Given the description of an element on the screen output the (x, y) to click on. 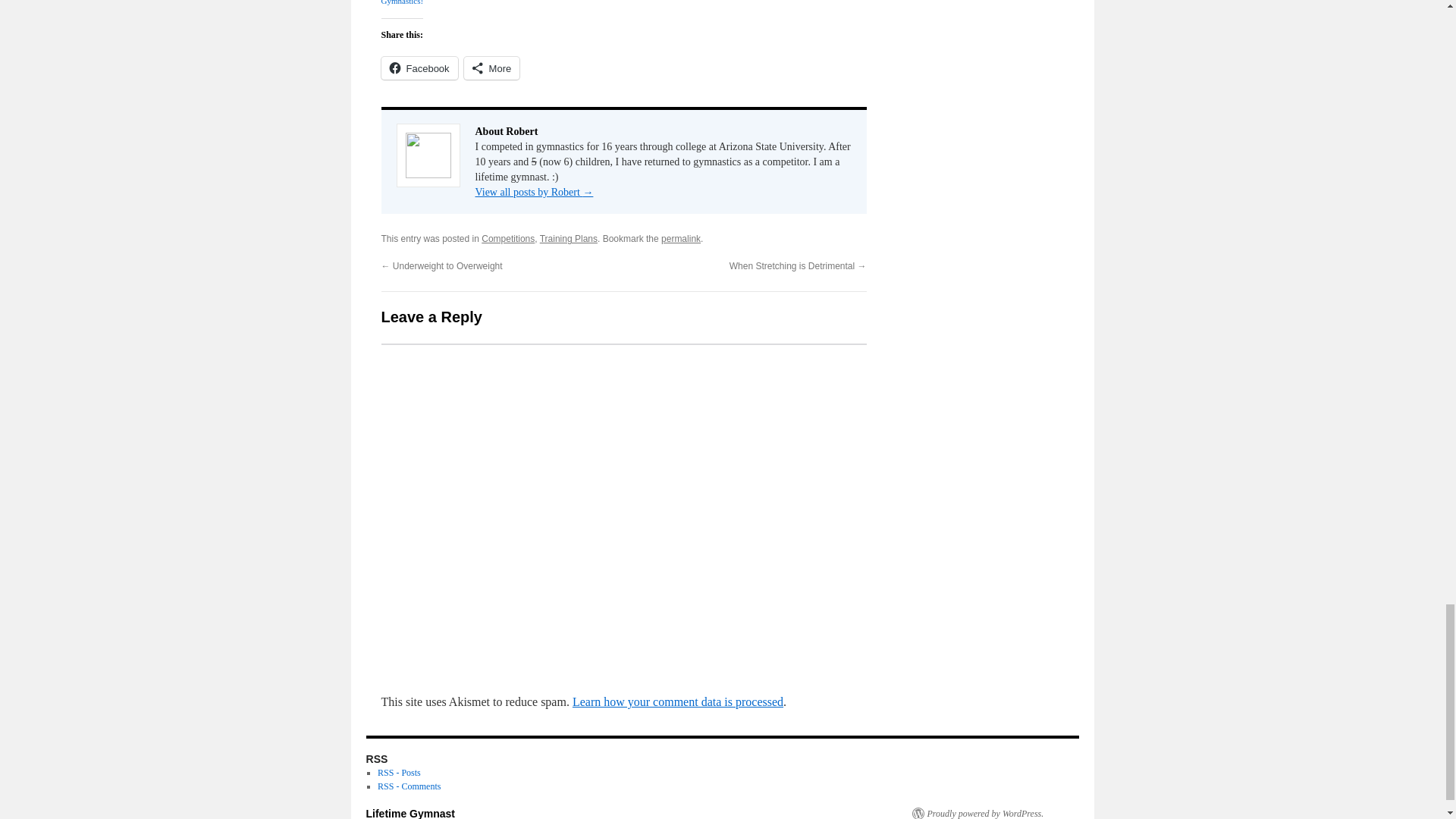
permalink (680, 238)
Click to share on Facebook (418, 67)
Training Plans (568, 238)
Learn how your comment data is processed (677, 701)
Competitions (507, 238)
Subscribe to comments (409, 786)
Facebook (418, 67)
More (491, 67)
